Given the description of an element on the screen output the (x, y) to click on. 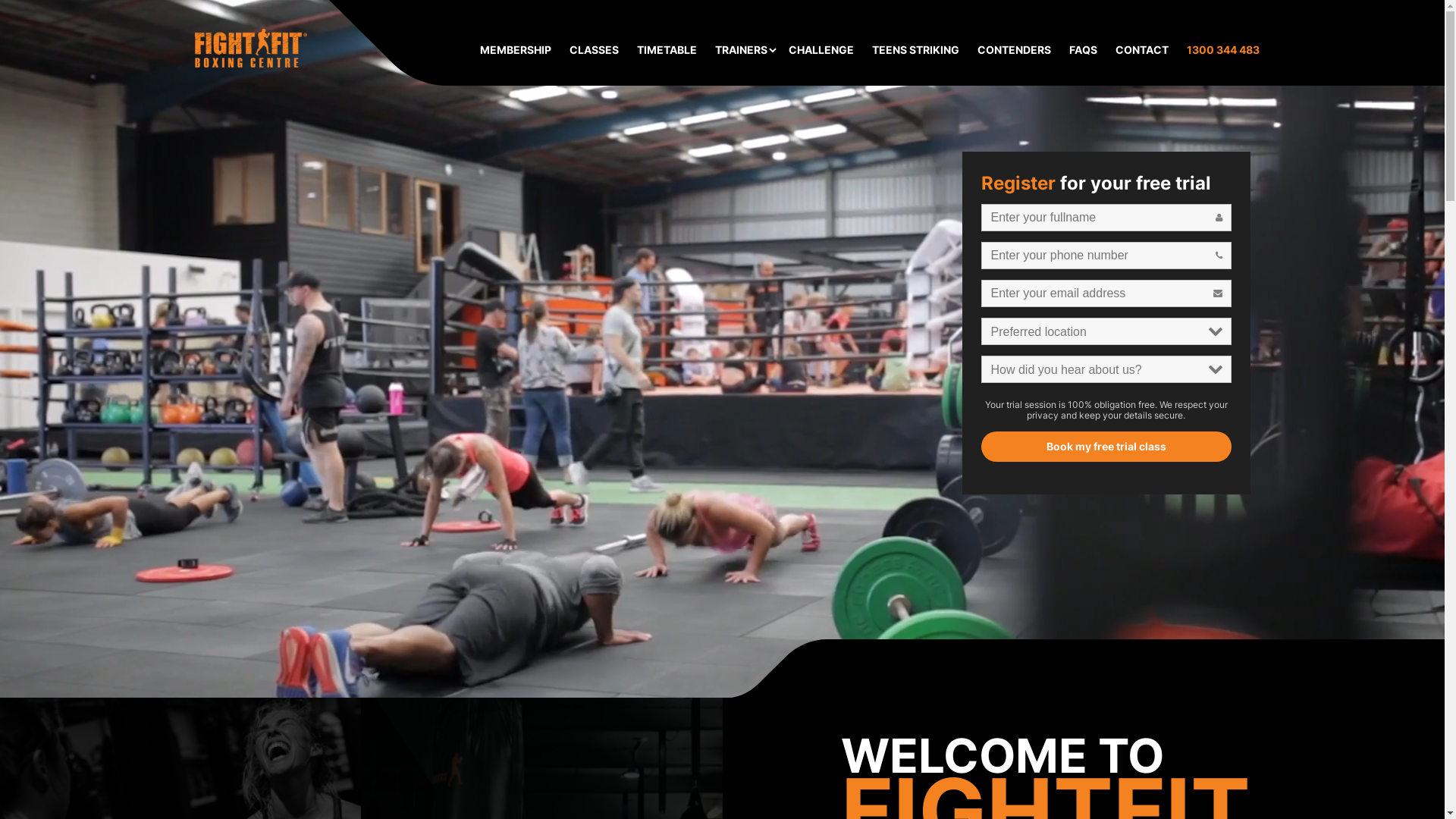
CONTACT Element type: text (1140, 49)
TEENS STRIKING Element type: text (915, 49)
TRAINERS Element type: text (740, 49)
CHALLENGE Element type: text (820, 49)
Book my free trial class Element type: text (1106, 446)
TIMETABLE Element type: text (666, 49)
CONTENDERS Element type: text (1013, 49)
CLASSES Element type: text (593, 49)
Book my free trial class Element type: text (722, 532)
MEMBERSHIP Element type: text (514, 49)
1300 344 483 Element type: text (1222, 49)
FAQS Element type: text (1083, 49)
